Given the description of an element on the screen output the (x, y) to click on. 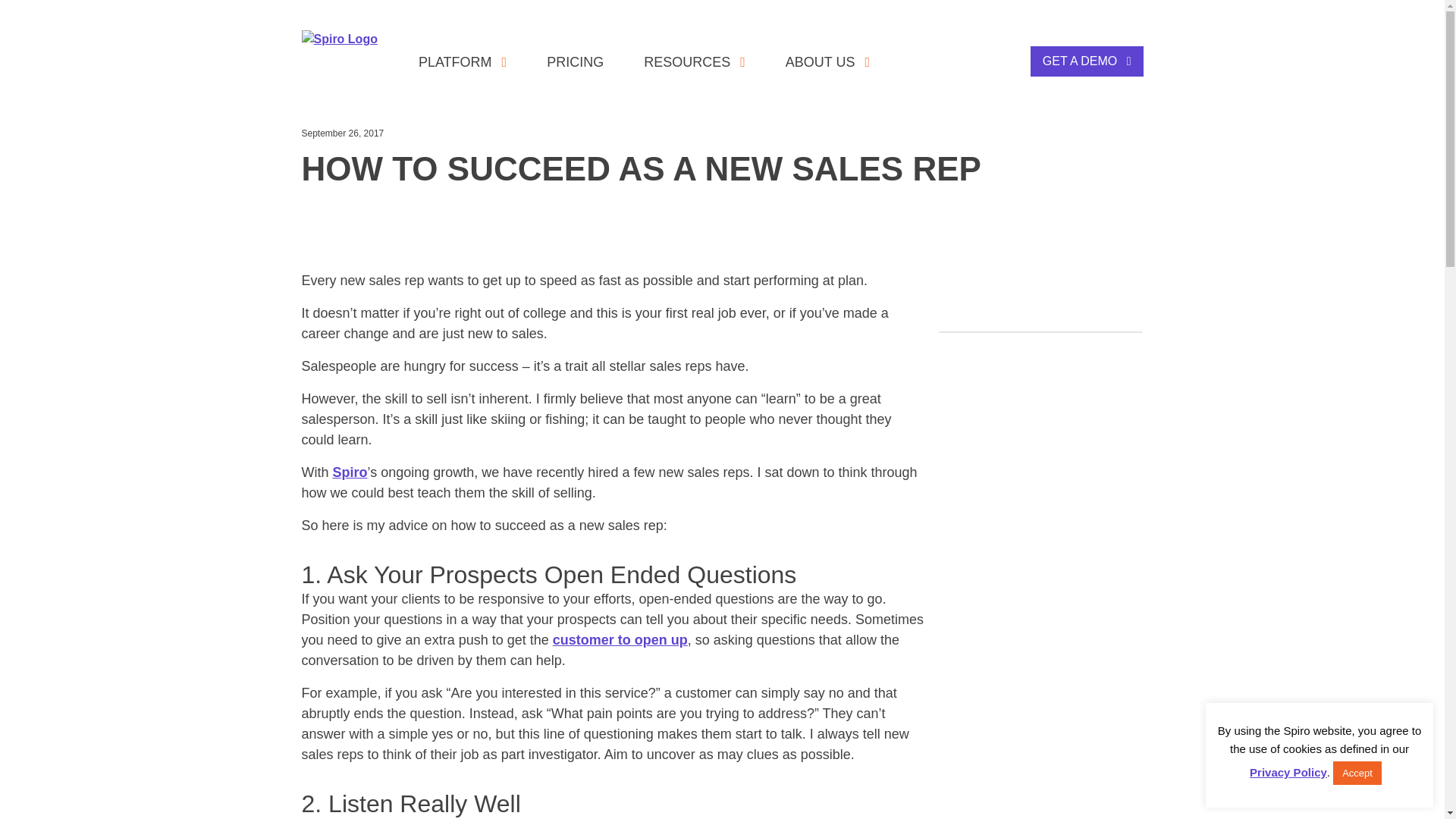
RESOURCES (694, 61)
PLATFORM (462, 61)
ABOUT US (827, 61)
customer to open up (620, 639)
PRICING (574, 61)
GET A DEMO (1086, 60)
Spiro (350, 472)
